Given the description of an element on the screen output the (x, y) to click on. 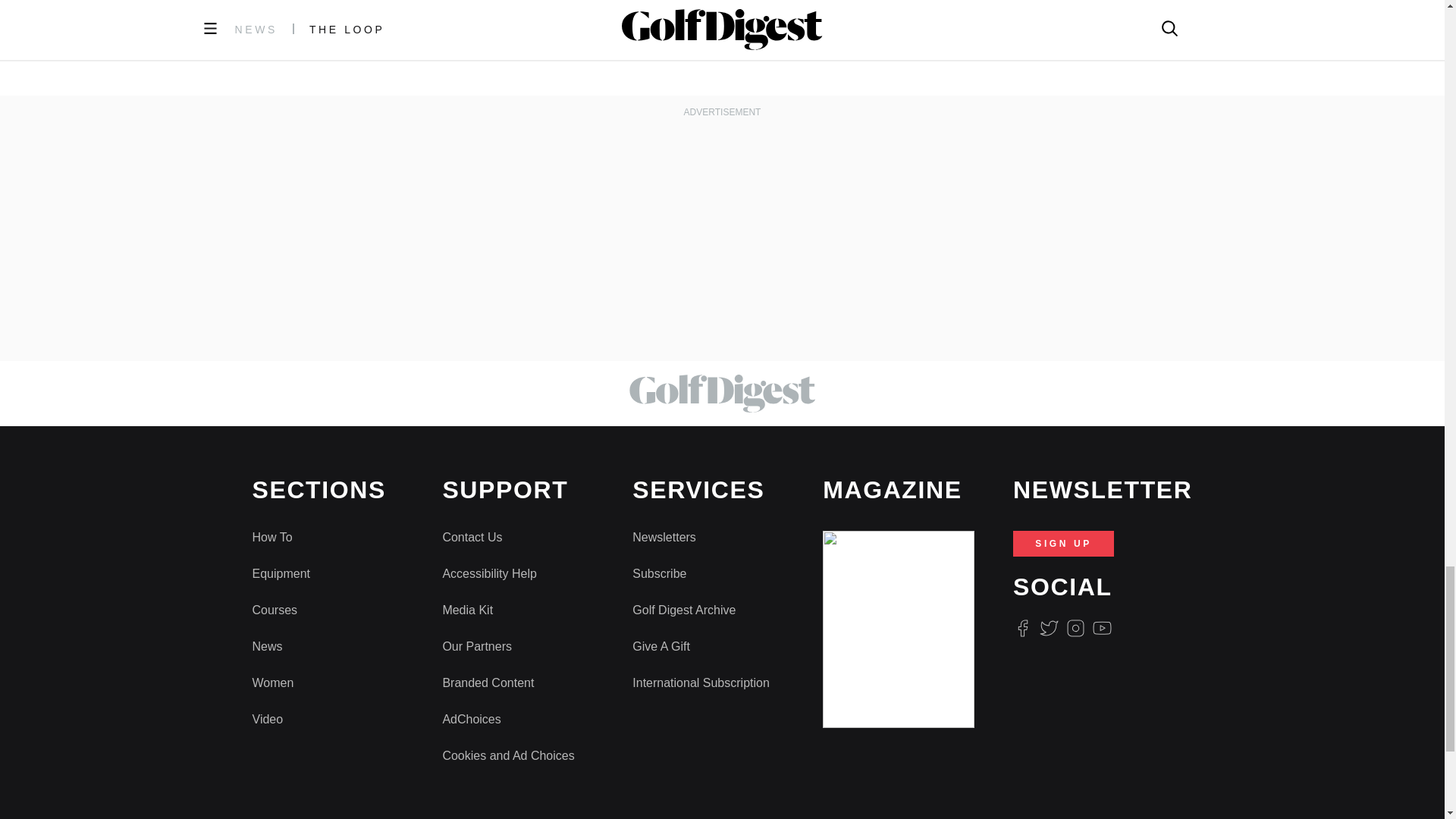
Twitter Logo (1048, 628)
Youtube Icon (1102, 628)
Instagram Logo (1074, 628)
Facebook Logo (1022, 628)
